Given the description of an element on the screen output the (x, y) to click on. 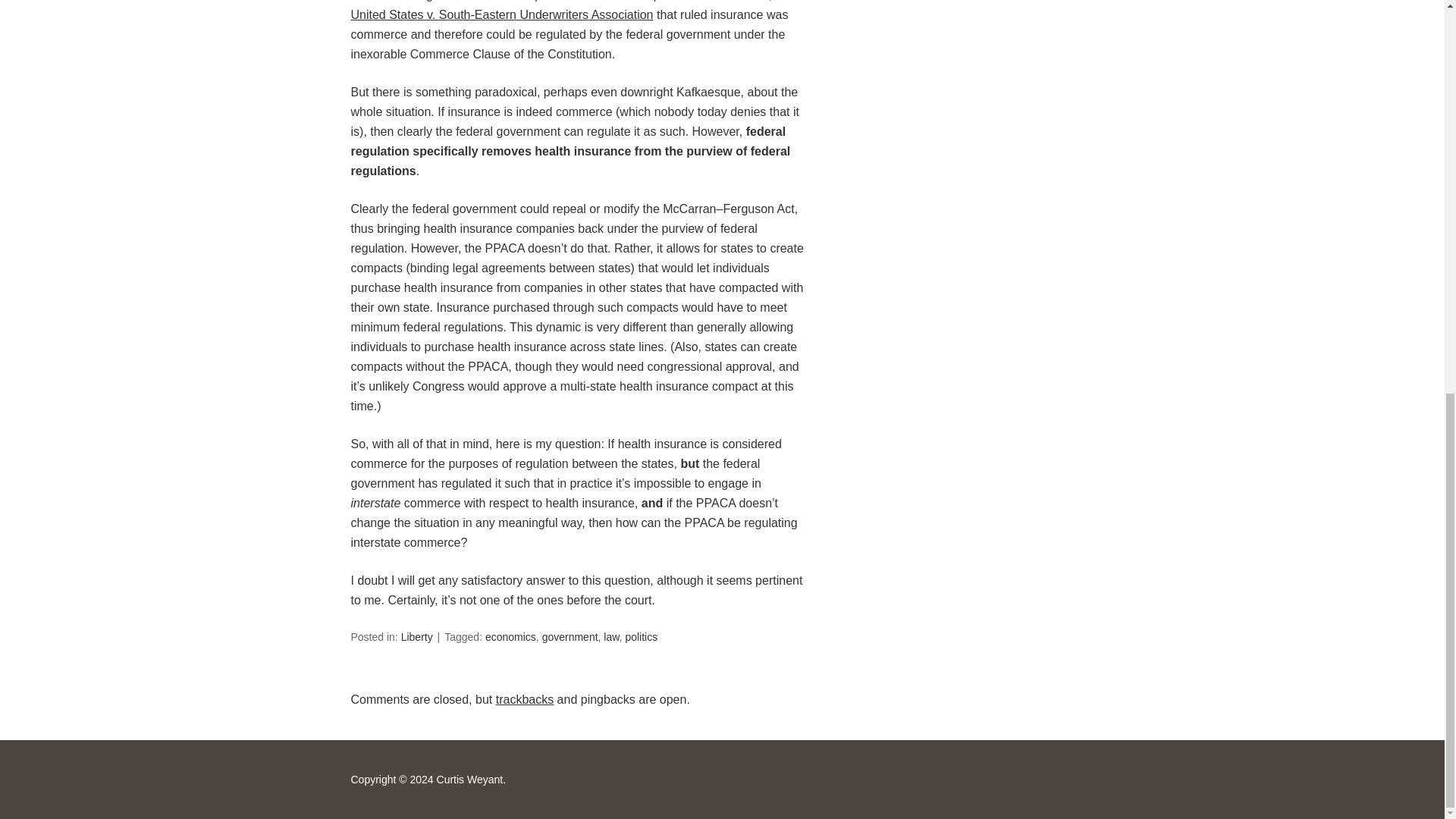
trackbacks (524, 698)
government (569, 636)
Trackback URL for this post (524, 698)
politics (641, 636)
law (611, 636)
economics (509, 636)
Liberty (416, 636)
United States v. South-Eastern Underwriters Association (501, 14)
